Given the description of an element on the screen output the (x, y) to click on. 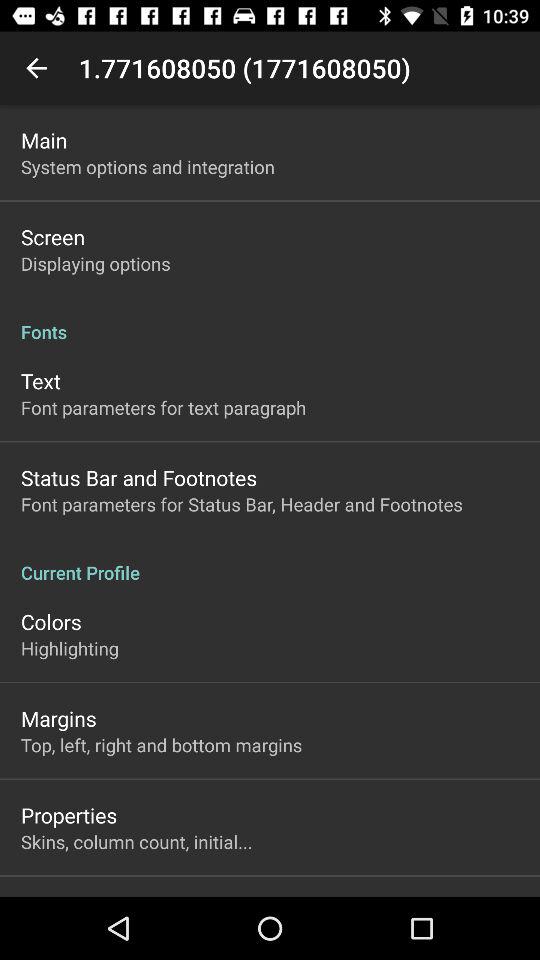
turn off icon above screen icon (147, 166)
